Given the description of an element on the screen output the (x, y) to click on. 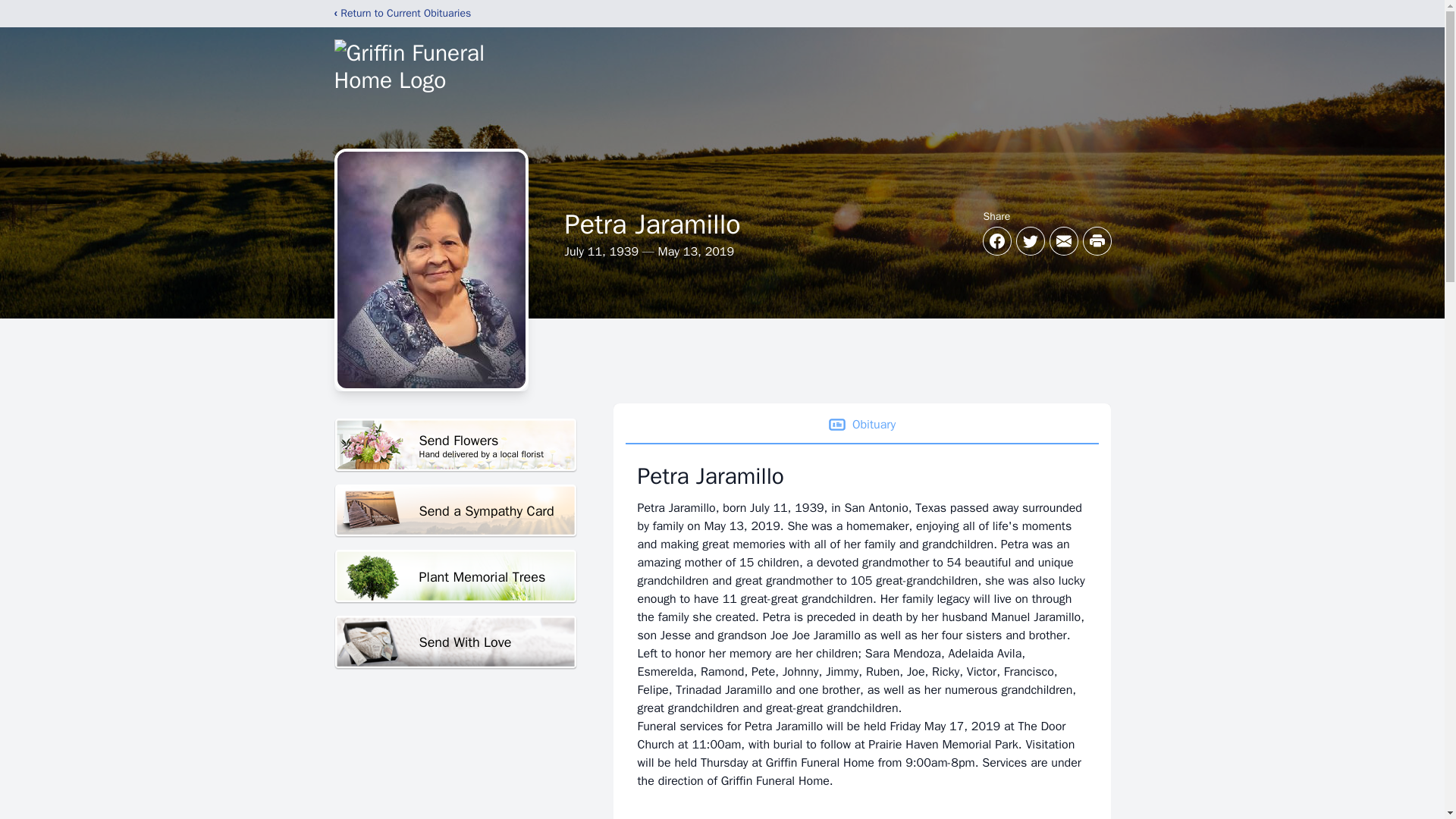
Obituary (454, 445)
Plant Memorial Trees (860, 425)
Send a Sympathy Card (454, 576)
Send With Love (454, 511)
